Given the description of an element on the screen output the (x, y) to click on. 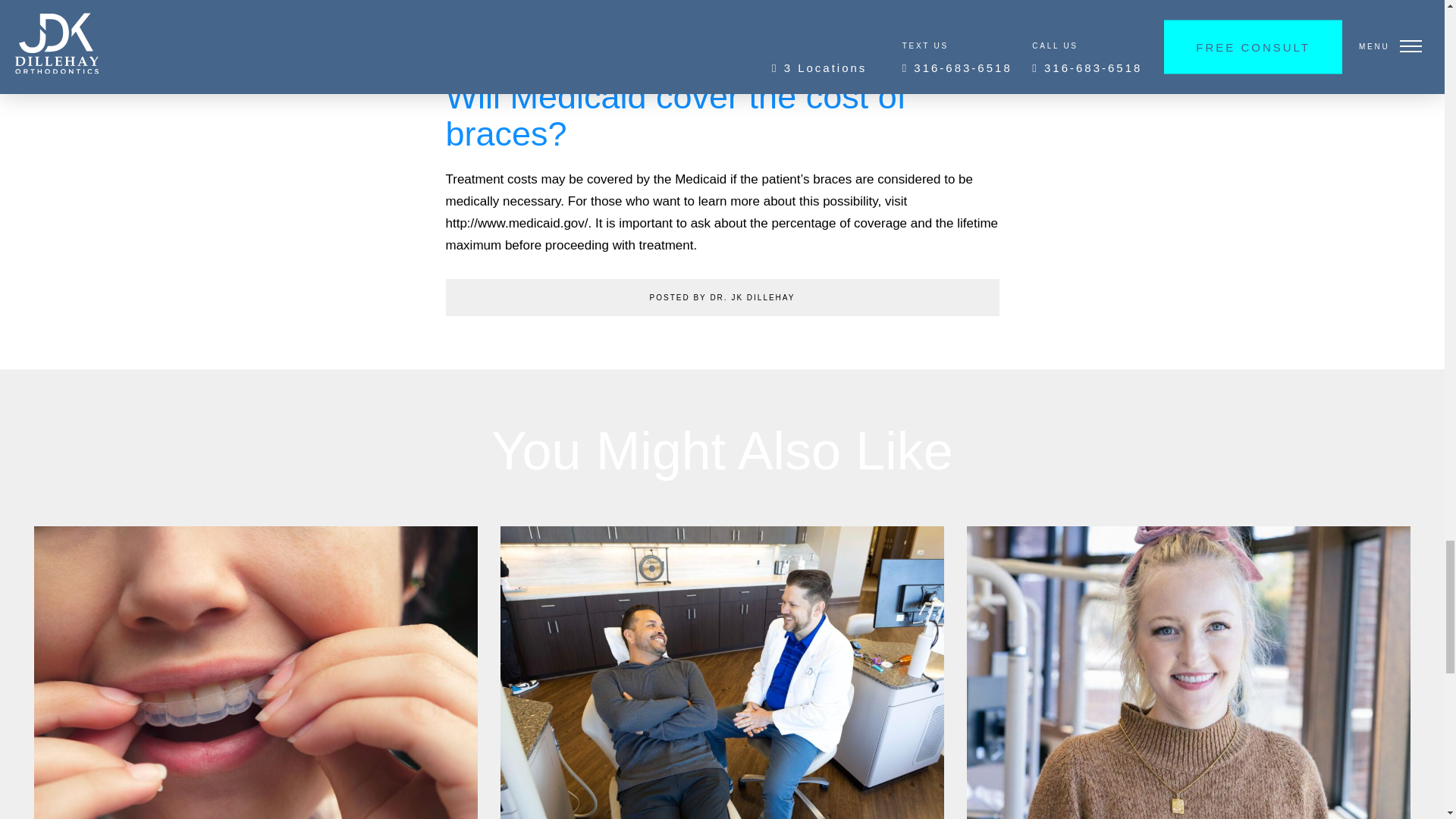
Tips for Wearing Clear Aligners While in School (255, 672)
What Should Parents Know About Clear Aligners For Teens? (1188, 672)
